Given the description of an element on the screen output the (x, y) to click on. 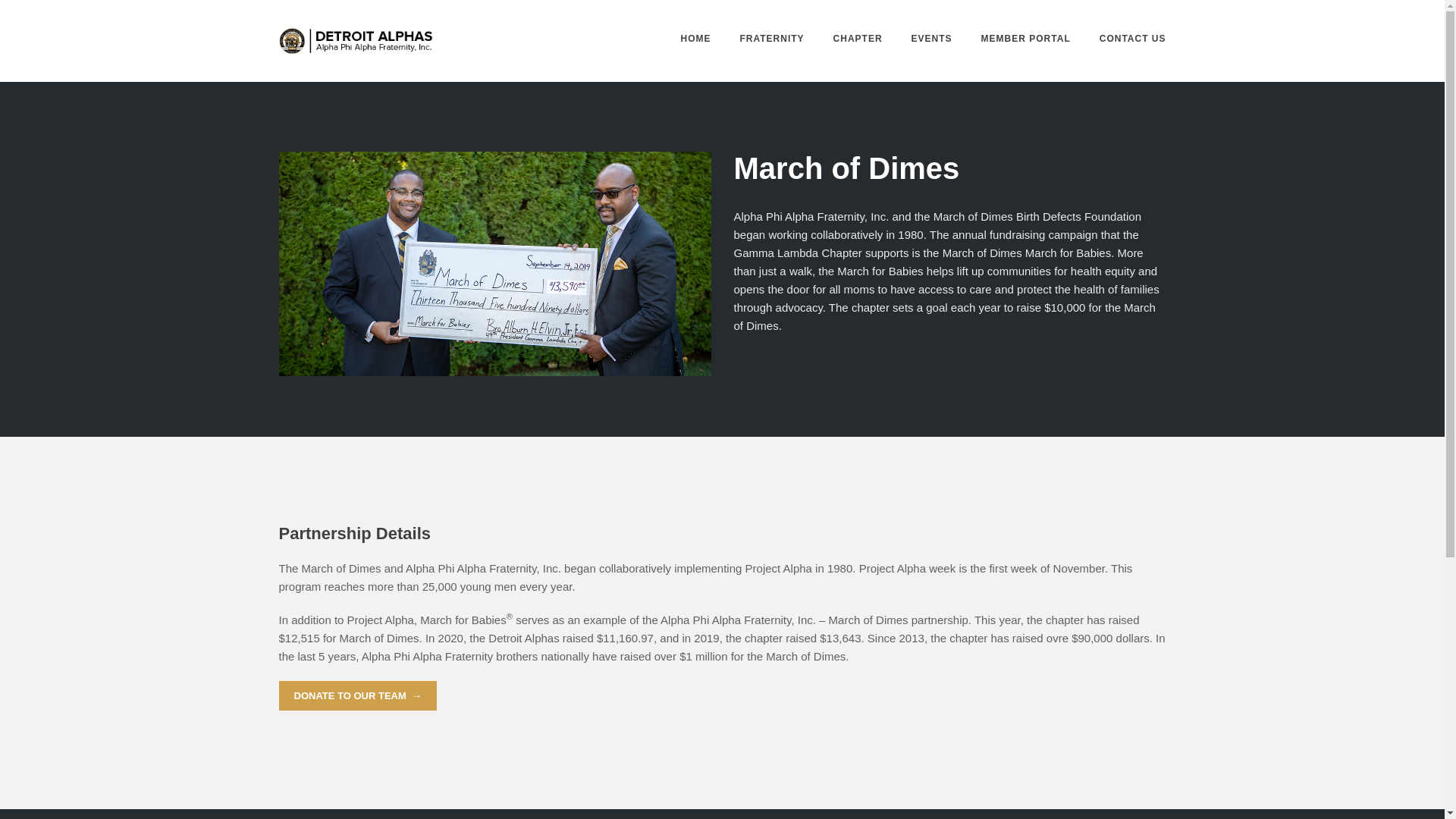
MEMBER PORTAL (1025, 38)
